Given the description of an element on the screen output the (x, y) to click on. 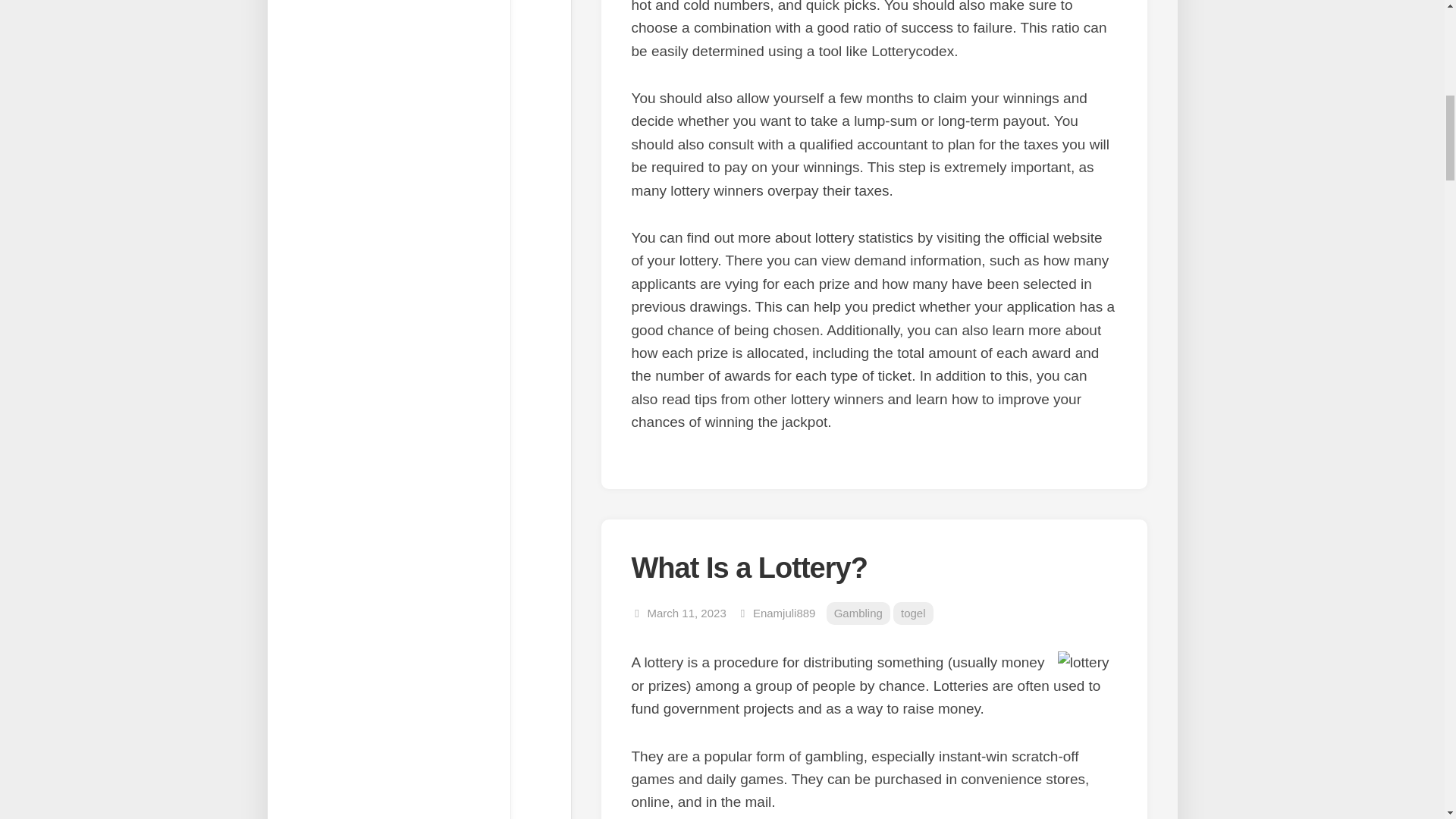
togel (913, 613)
What Is a Lottery? (748, 567)
Gambling (858, 613)
Posts by Enamjuli889 (783, 612)
Enamjuli889 (783, 612)
